Given the description of an element on the screen output the (x, y) to click on. 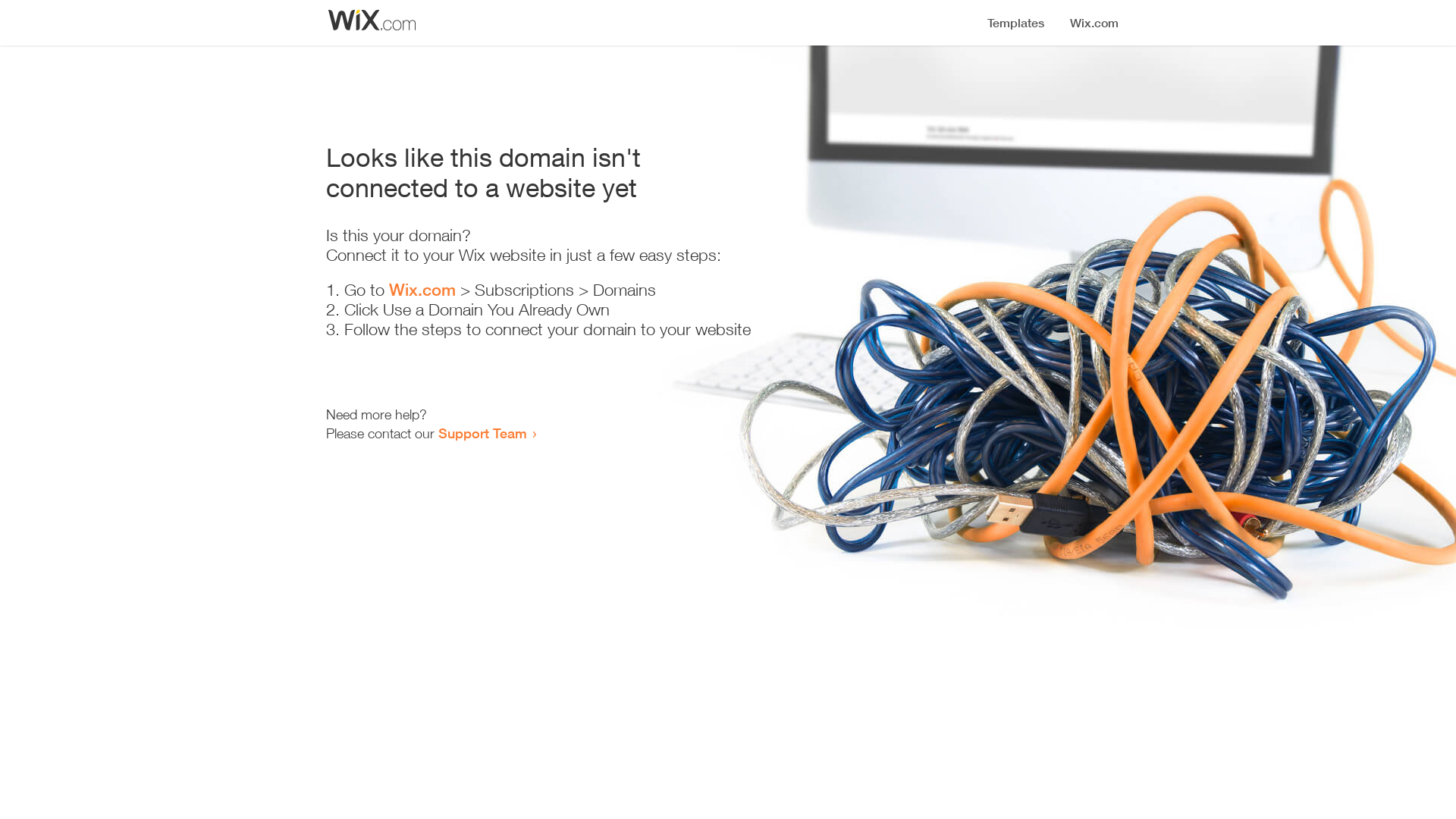
Support Team Element type: text (482, 432)
Wix.com Element type: text (422, 289)
